Given the description of an element on the screen output the (x, y) to click on. 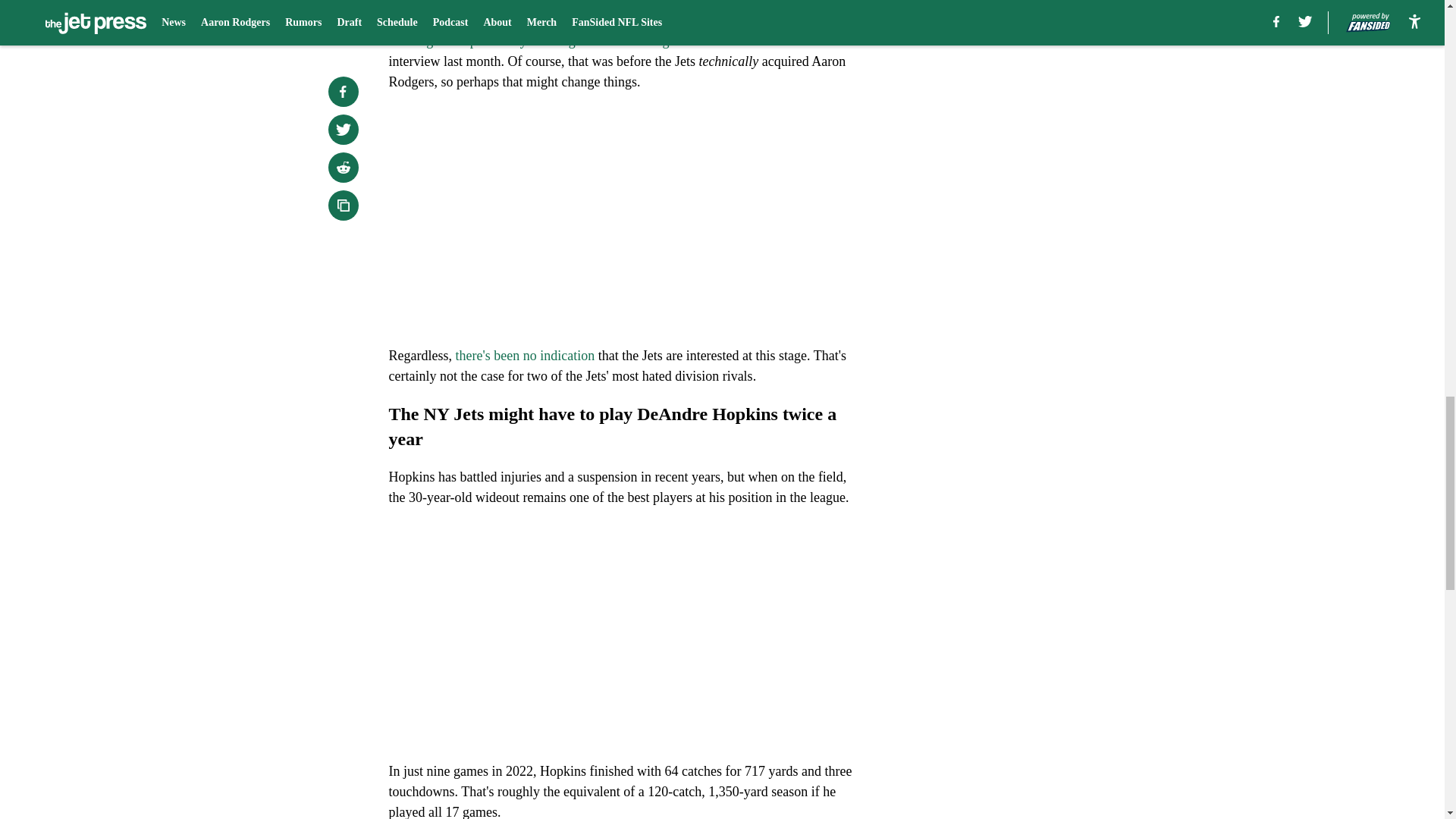
there's been no indication (524, 355)
